Given the description of an element on the screen output the (x, y) to click on. 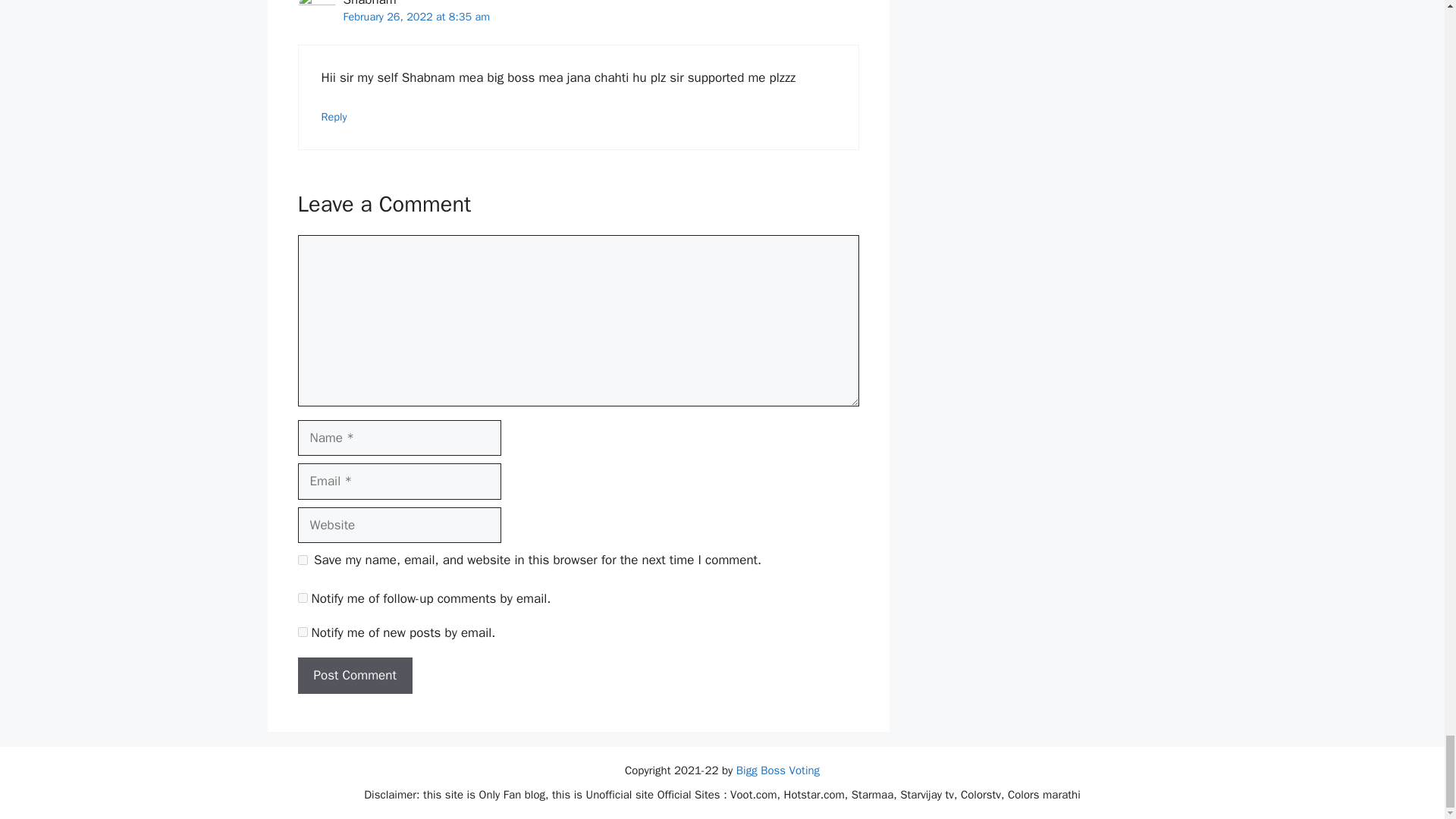
subscribe (302, 632)
Post Comment (354, 675)
subscribe (302, 597)
yes (302, 560)
